Given the description of an element on the screen output the (x, y) to click on. 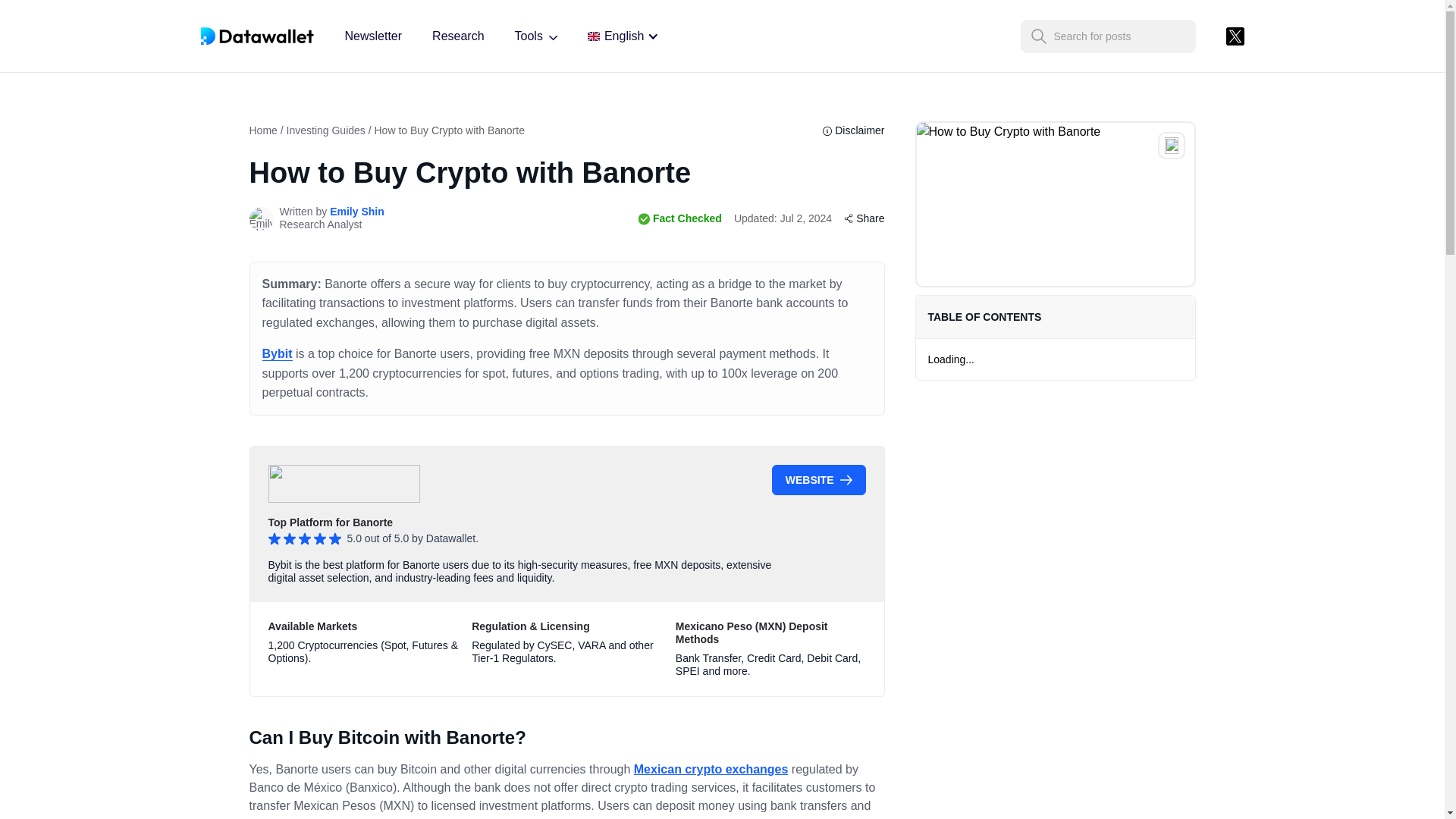
Bybit (277, 354)
Investing Guides (325, 130)
Home (262, 130)
Disclaimer (852, 130)
WEBSITE (818, 480)
Research (457, 36)
Share (863, 218)
Mexican crypto exchanges (711, 768)
Newsletter (372, 36)
